Given the description of an element on the screen output the (x, y) to click on. 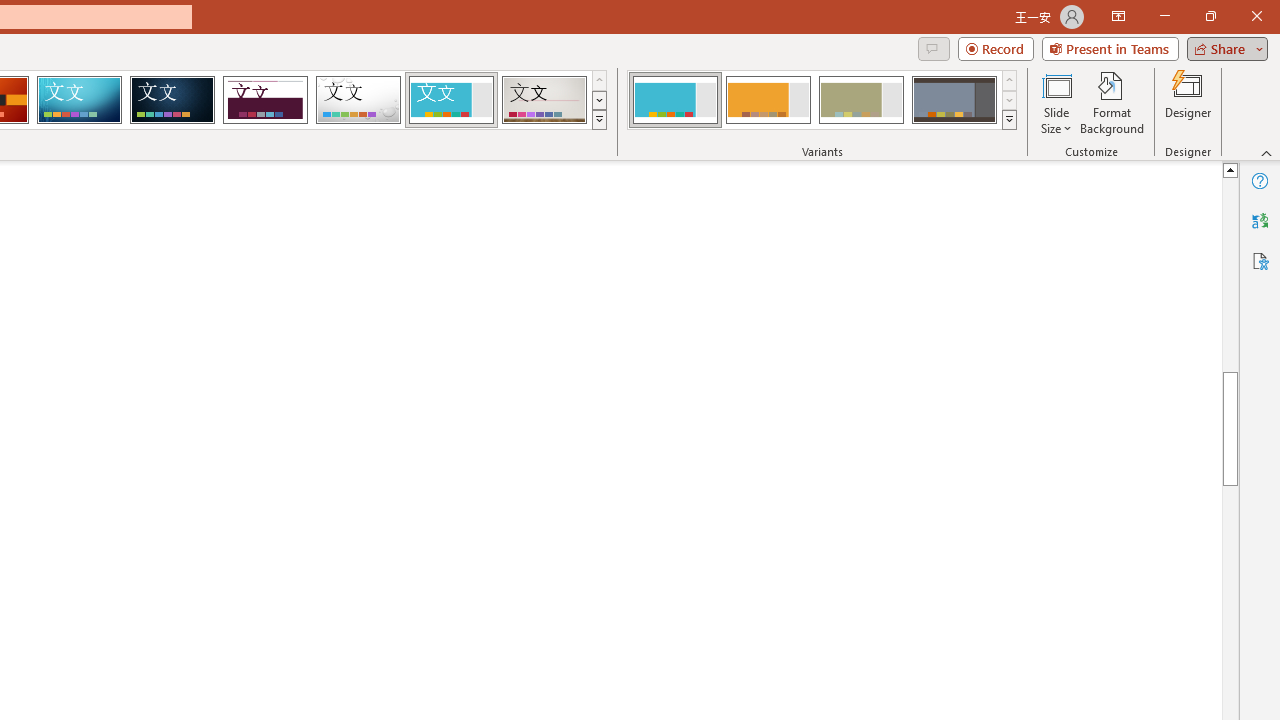
AutomationID: ThemeVariantsGallery (822, 99)
Droplet (358, 100)
Themes (598, 120)
Damask (171, 100)
Frame Variant 4 (953, 100)
Gallery (544, 100)
Frame Variant 1 (674, 100)
